Given the description of an element on the screen output the (x, y) to click on. 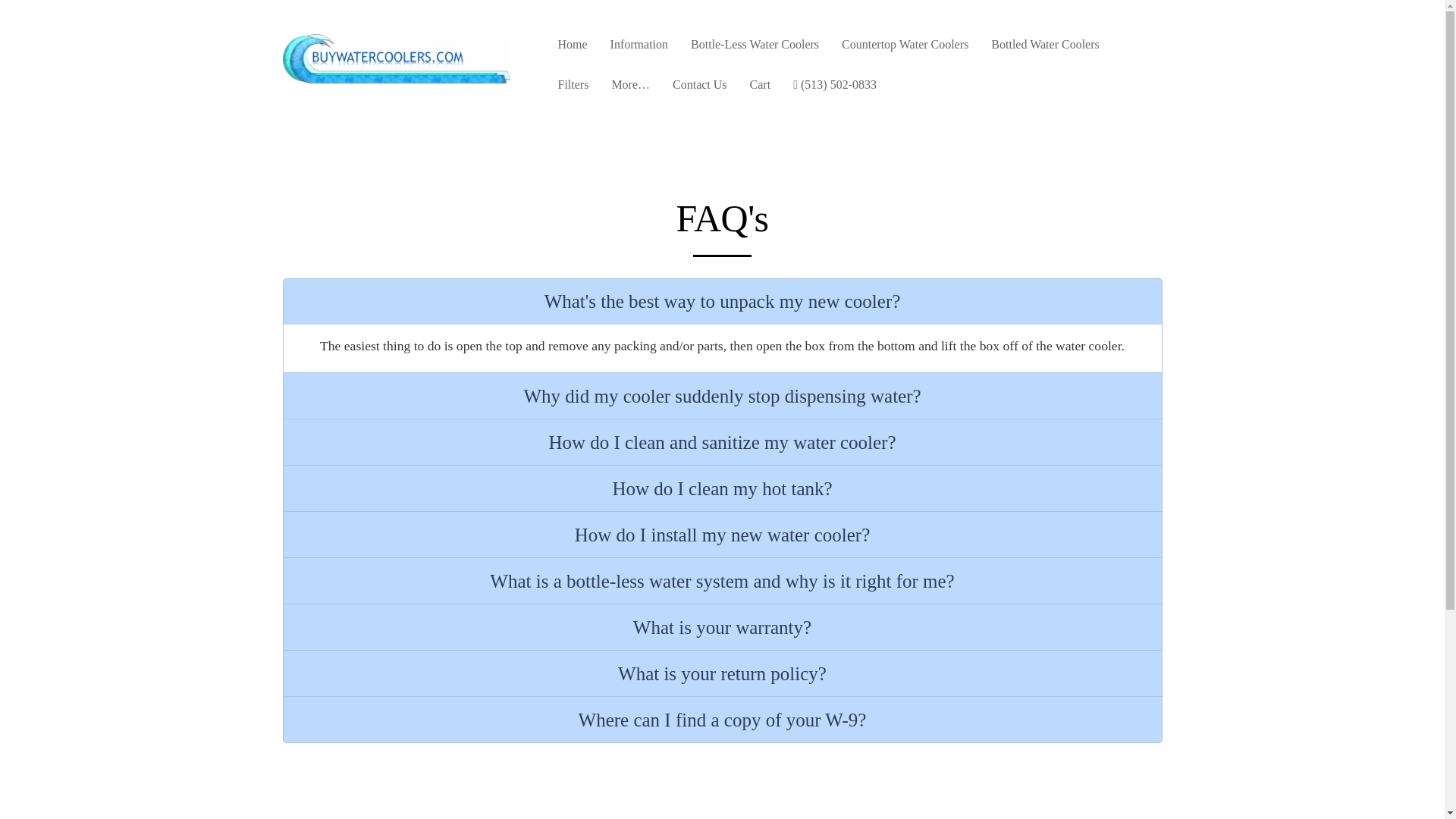
Buywatercoolers.com (395, 75)
Buywatercoolers.com (395, 58)
Bottled Water Coolers (1045, 50)
Filters (573, 90)
Cart (760, 90)
Bottle-Less Water Coolers (754, 50)
Home (572, 50)
Countertop Water Coolers (904, 50)
Contact Us (700, 90)
Information (638, 50)
